Given the description of an element on the screen output the (x, y) to click on. 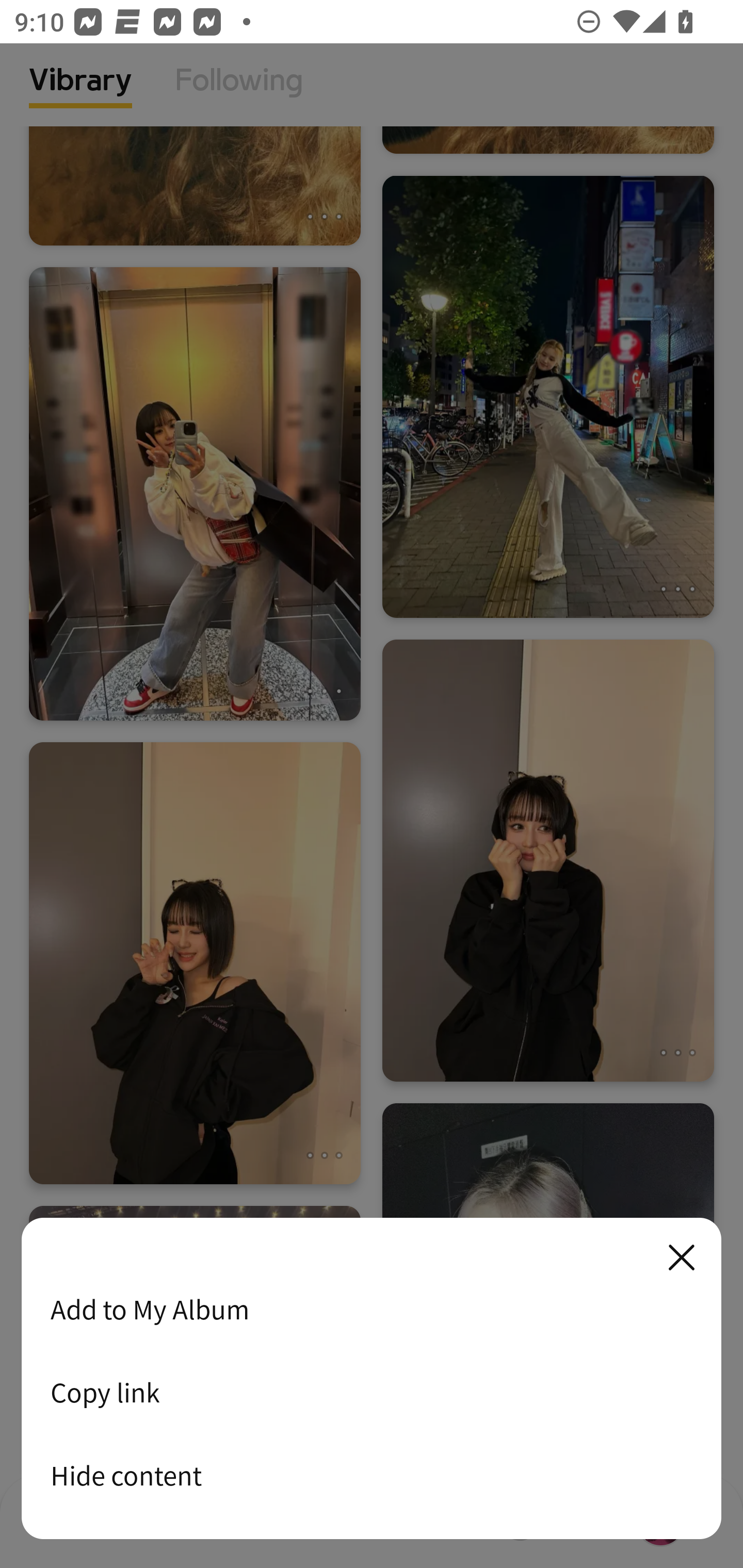
Add to My Album Copy link Hide content (371, 1378)
Add to My Album (371, 1308)
Copy link (371, 1391)
Hide content (371, 1474)
